Given the description of an element on the screen output the (x, y) to click on. 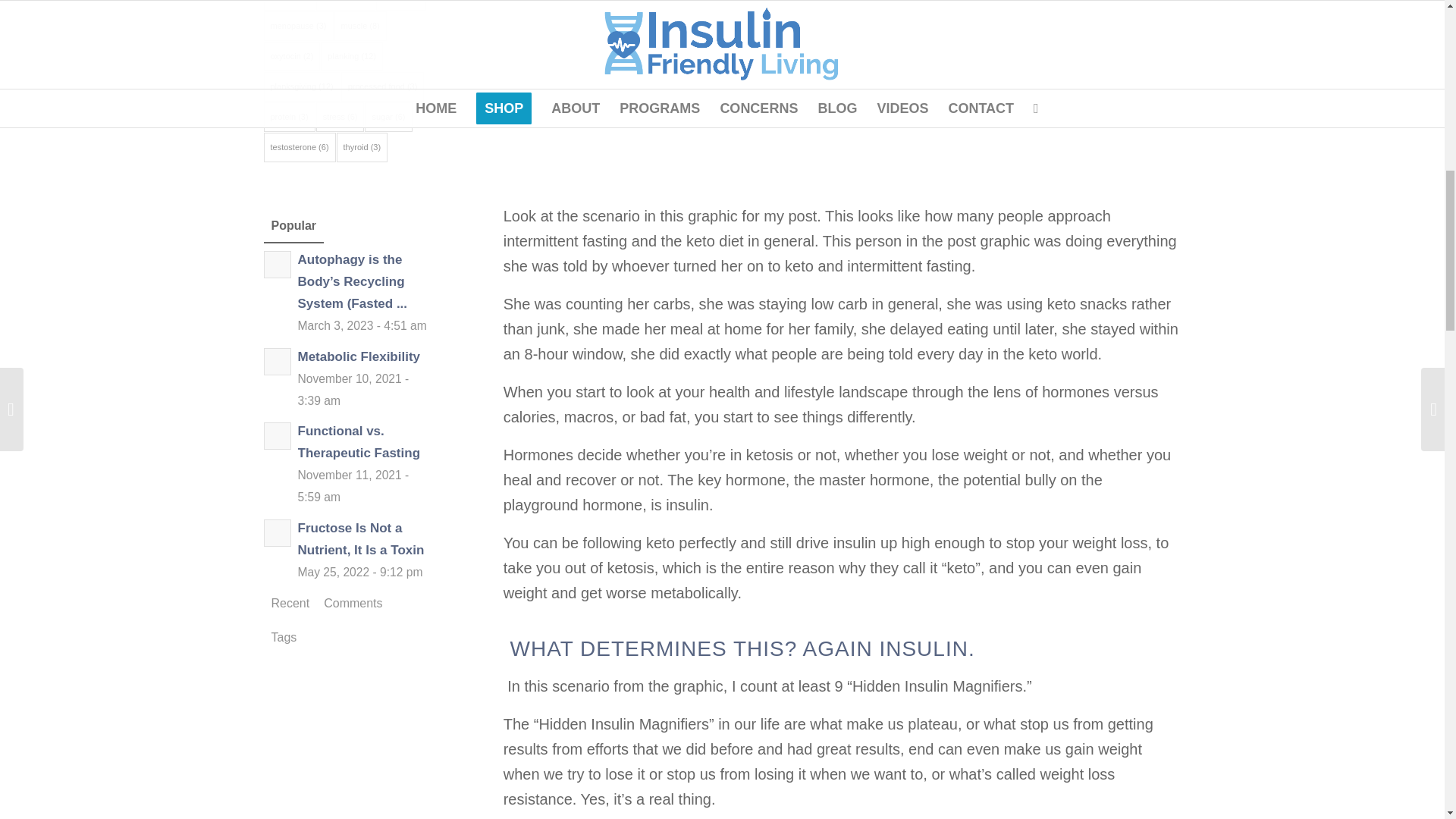
Fructose Is Not a Nutrient, It Is a Toxin (345, 549)
Functional vs. Therapeutic Fasting (345, 463)
Metabolic Flexibility (345, 378)
